Given the description of an element on the screen output the (x, y) to click on. 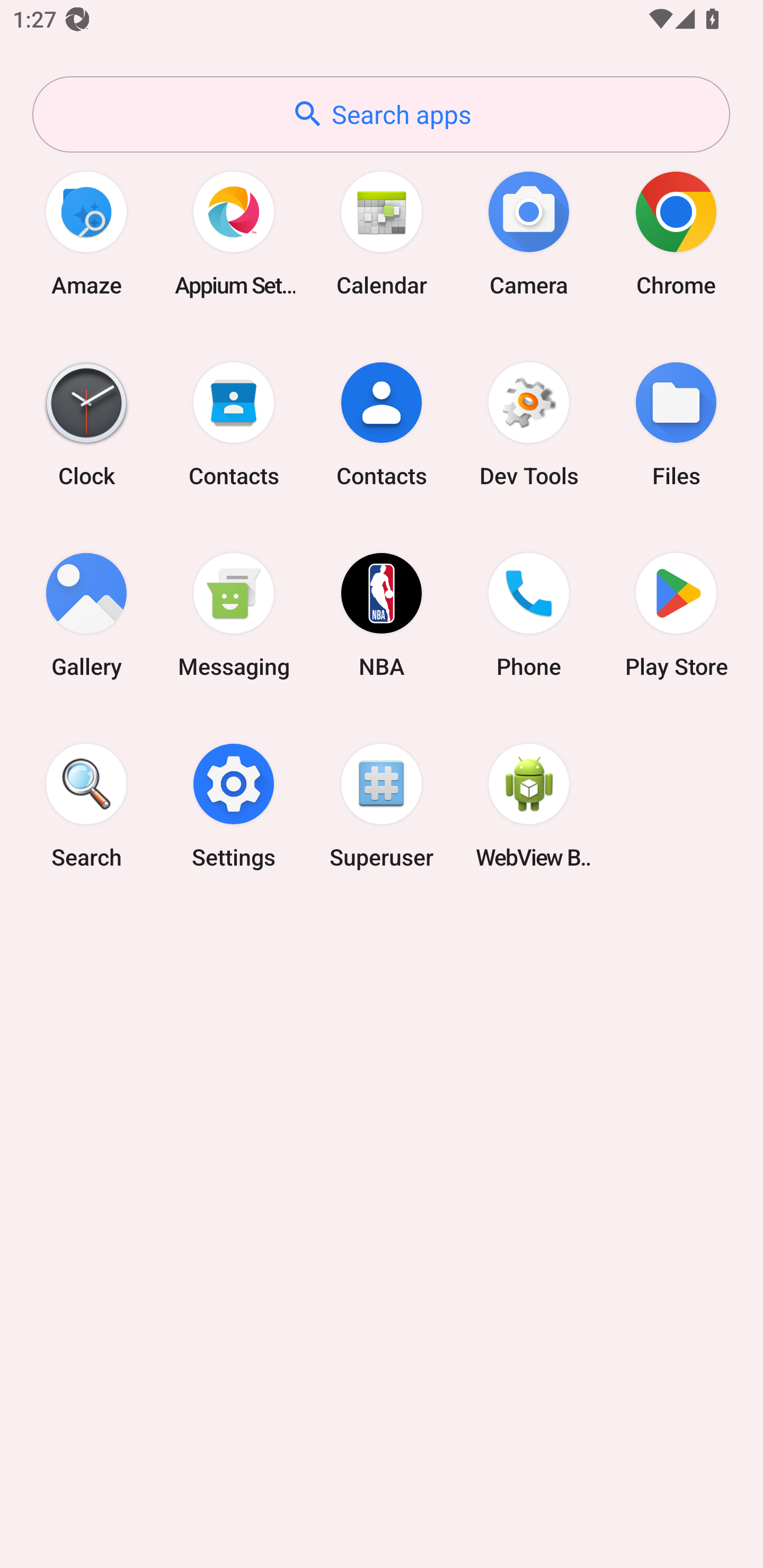
  Search apps (381, 114)
Amaze (86, 233)
Appium Settings (233, 233)
Calendar (381, 233)
Camera (528, 233)
Chrome (676, 233)
Clock (86, 424)
Contacts (233, 424)
Contacts (381, 424)
Dev Tools (528, 424)
Files (676, 424)
Gallery (86, 614)
Messaging (233, 614)
NBA (381, 614)
Phone (528, 614)
Play Store (676, 614)
Search (86, 805)
Settings (233, 805)
Superuser (381, 805)
WebView Browser Tester (528, 805)
